Given the description of an element on the screen output the (x, y) to click on. 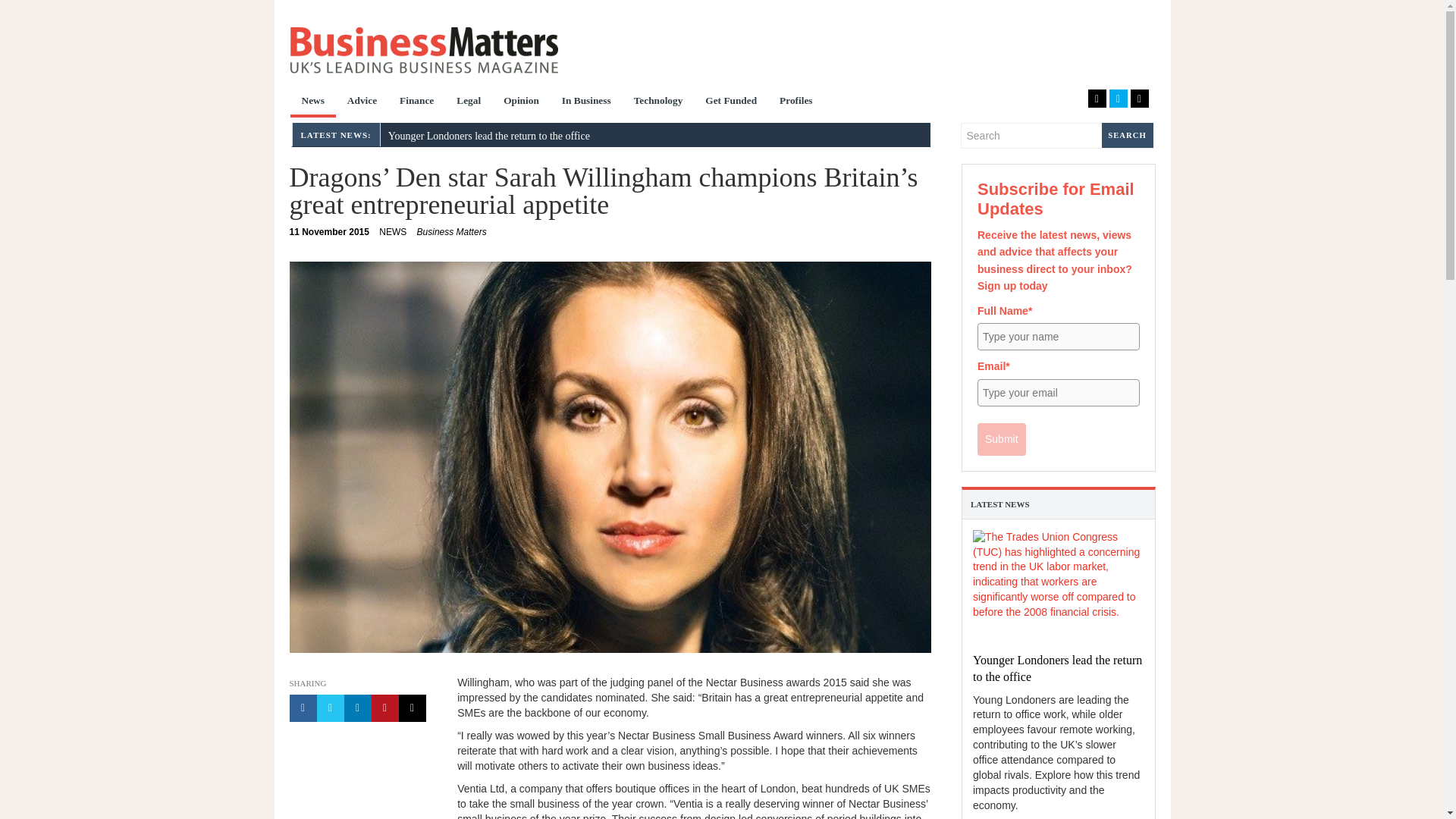
Business Matters (423, 50)
Technology (658, 101)
Finance (416, 101)
Business Matters (451, 231)
Get Funded (731, 101)
Advice (362, 101)
11 November 2015 (329, 231)
Younger Londoners lead the return to the office (488, 135)
In Business (586, 101)
Legal (468, 101)
